Given the description of an element on the screen output the (x, y) to click on. 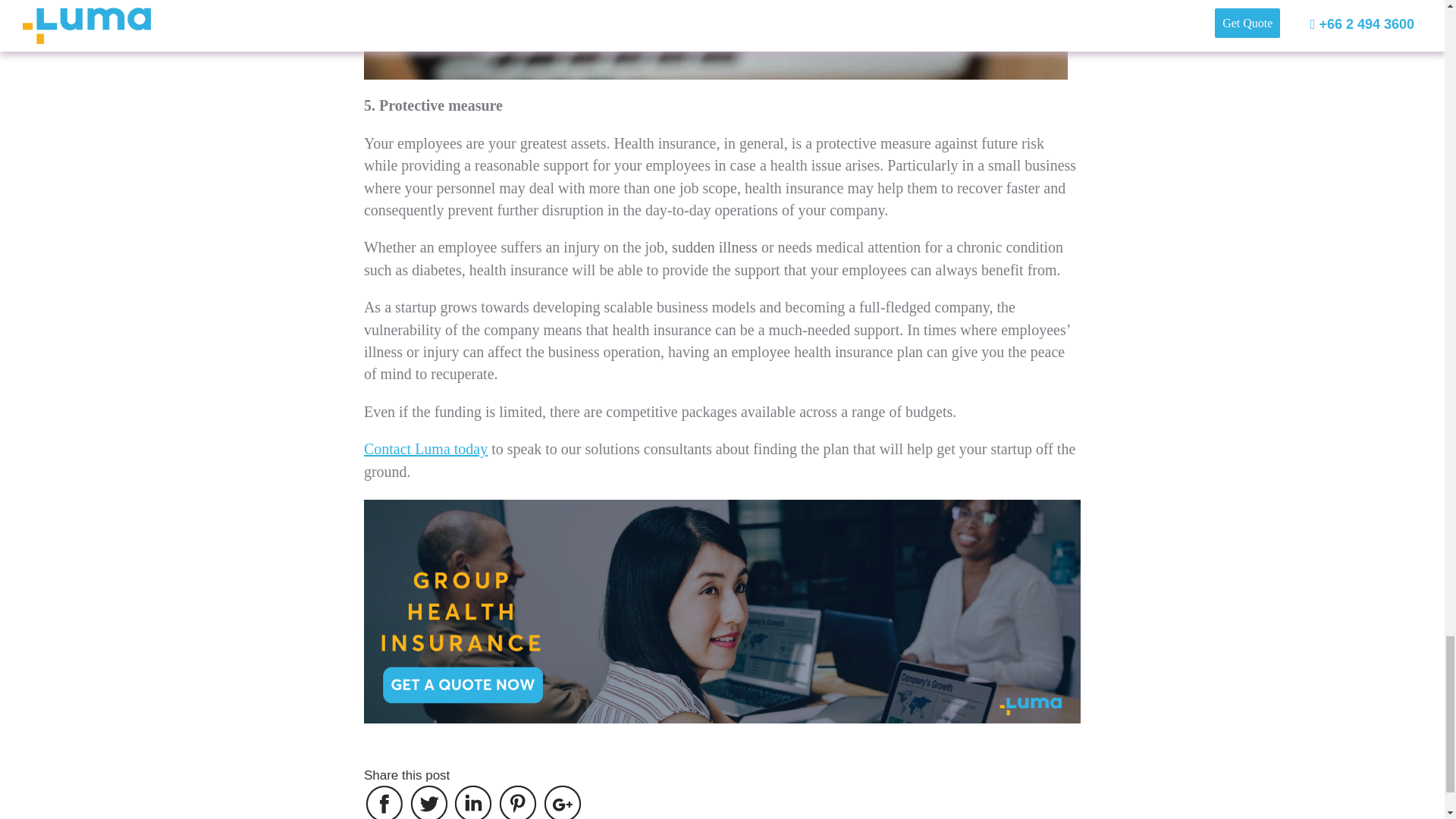
facebook (384, 801)
email (561, 801)
Contact Luma today (425, 448)
twitter (429, 801)
linkedin (473, 801)
